Given the description of an element on the screen output the (x, y) to click on. 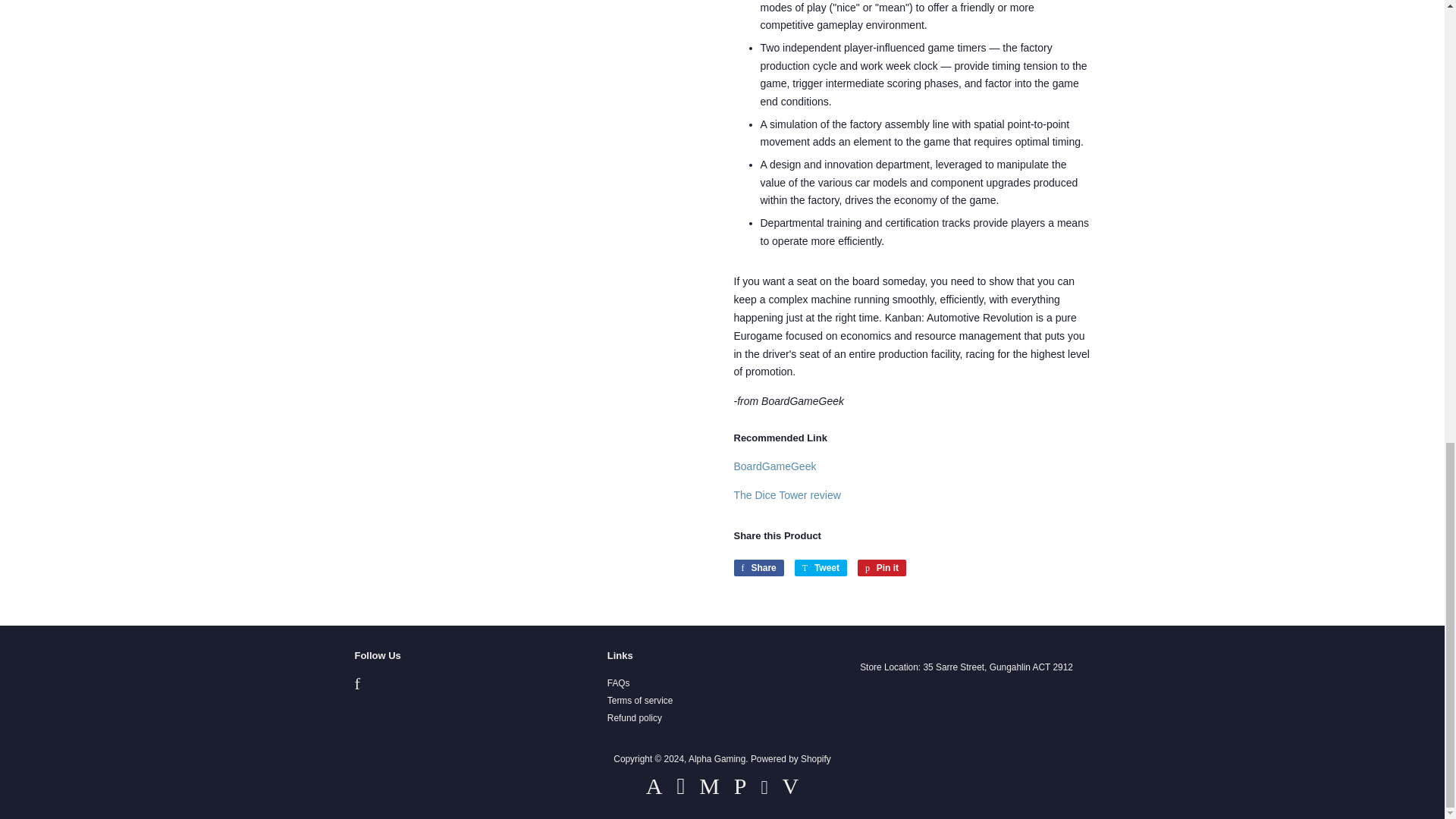
Alpha Gaming on Facebook (357, 685)
Pin on Pinterest (881, 567)
The Dice Tower review - Kanban (787, 494)
Share on Facebook (758, 567)
BGG - Kanban (774, 466)
Tweet on Twitter (820, 567)
